Given the description of an element on the screen output the (x, y) to click on. 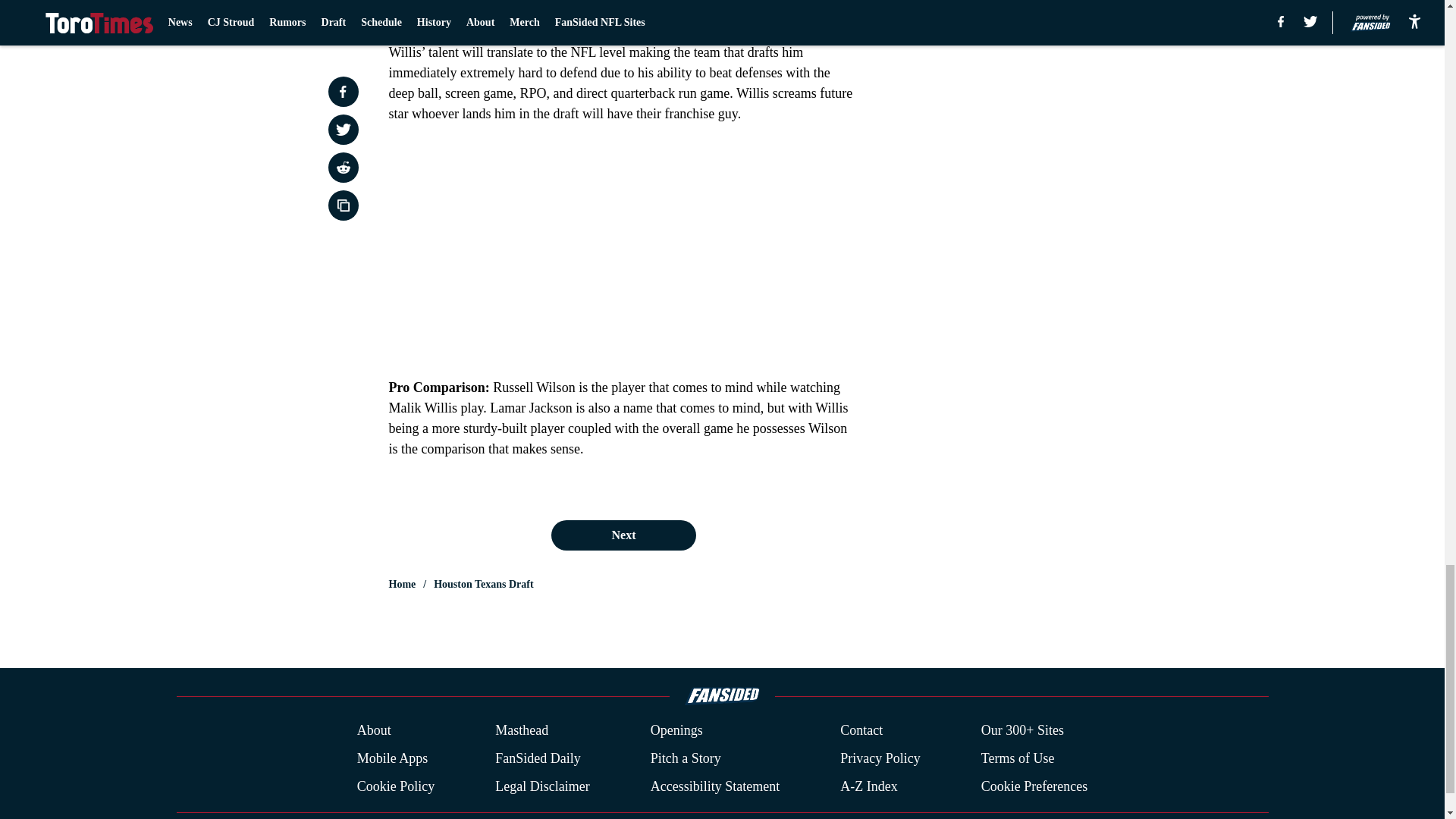
FanSided Daily (537, 758)
Houston Texans Draft (482, 584)
Next (622, 535)
Mobile Apps (392, 758)
Home (401, 584)
About (373, 730)
Pitch a Story (685, 758)
Openings (676, 730)
Masthead (521, 730)
Contact (861, 730)
